Given the description of an element on the screen output the (x, y) to click on. 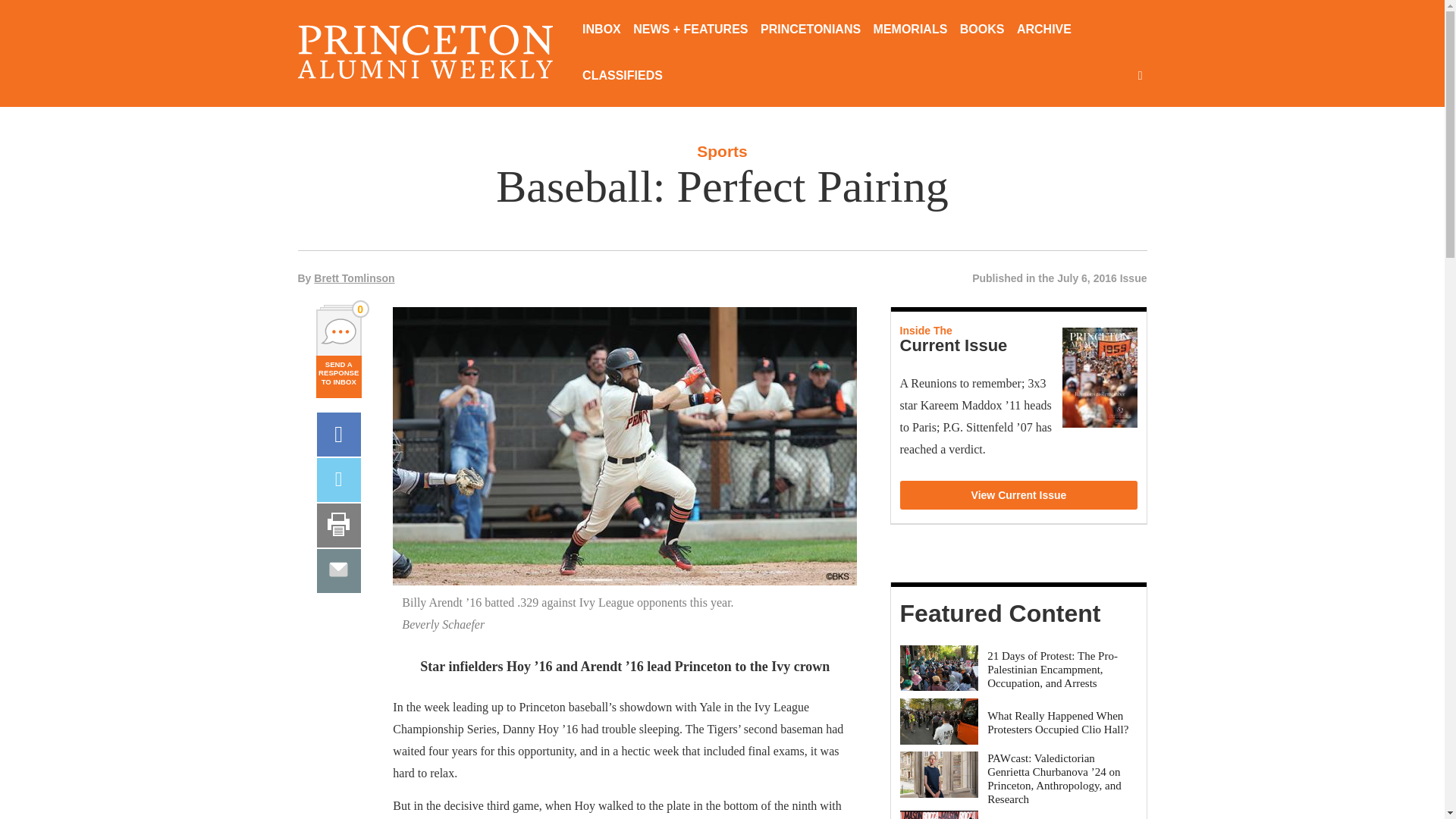
Published in the July 6, 2016 Issue (1059, 277)
PRINCETONIANS (809, 30)
Brett Tomlinson (354, 277)
ARCHIVE (1043, 30)
MEMORIALS (910, 30)
CLASSIFIEDS (622, 76)
INBOX (602, 30)
View Current Issue (1018, 494)
BOOKS (982, 30)
